Given the description of an element on the screen output the (x, y) to click on. 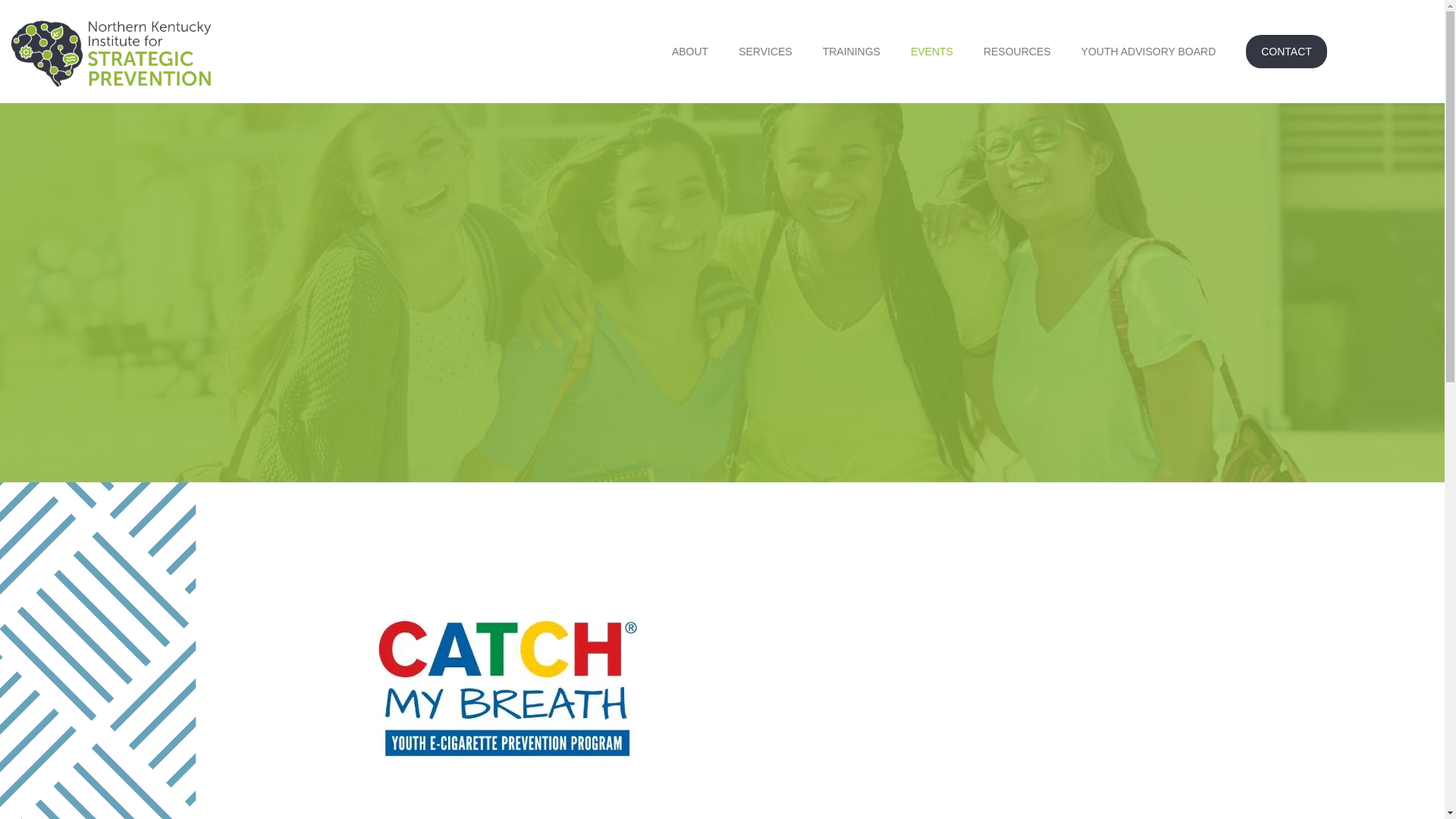
CONTACT (1286, 51)
EVENTS (931, 51)
ABOUT (689, 51)
Catch Logo (506, 688)
RESOURCES (1016, 51)
YOUTH ADVISORY BOARD (1148, 51)
TRAININGS (851, 51)
SERVICES (765, 51)
